Given the description of an element on the screen output the (x, y) to click on. 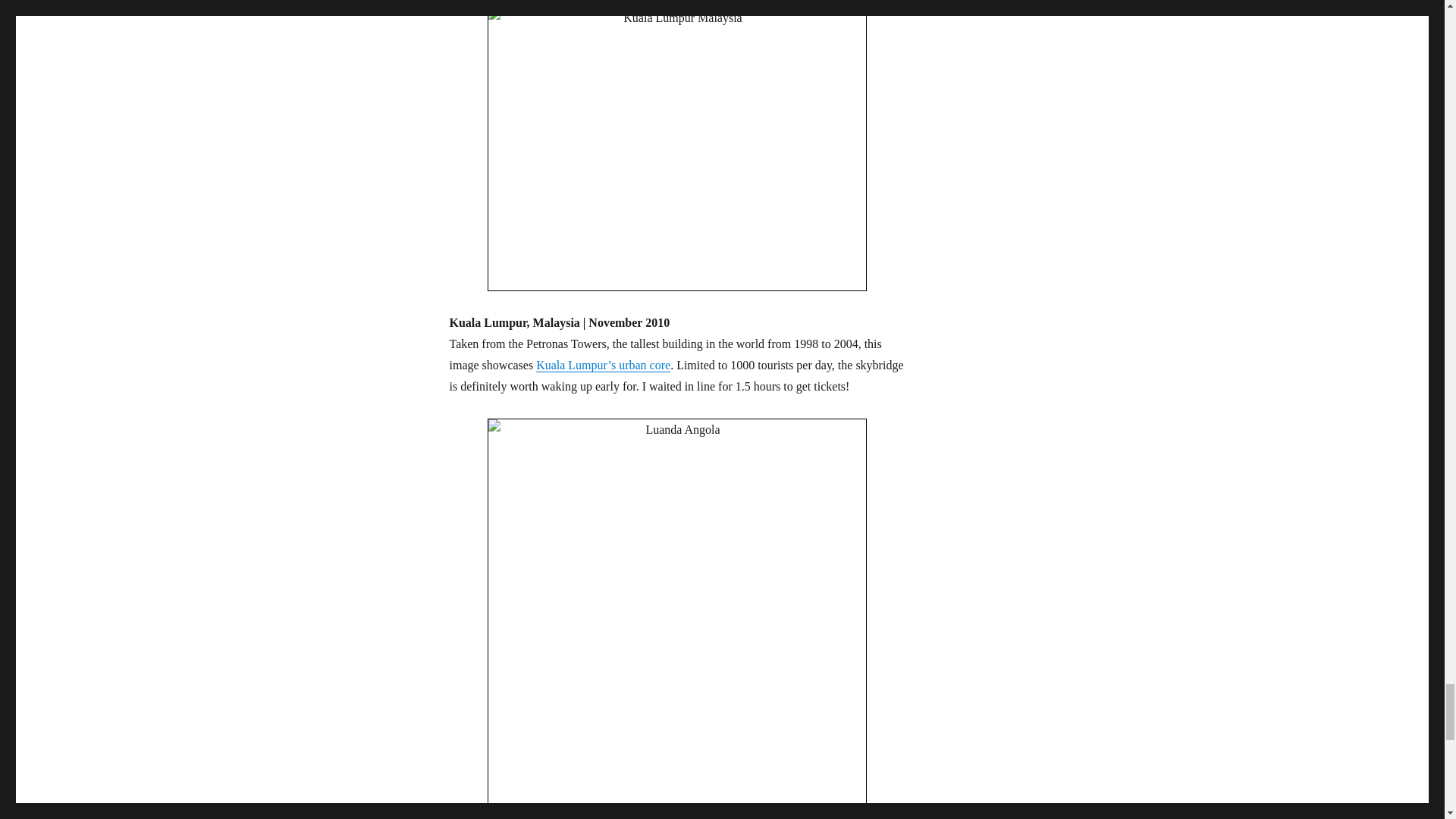
Kuala Lumpur Malaysia (676, 148)
